Given the description of an element on the screen output the (x, y) to click on. 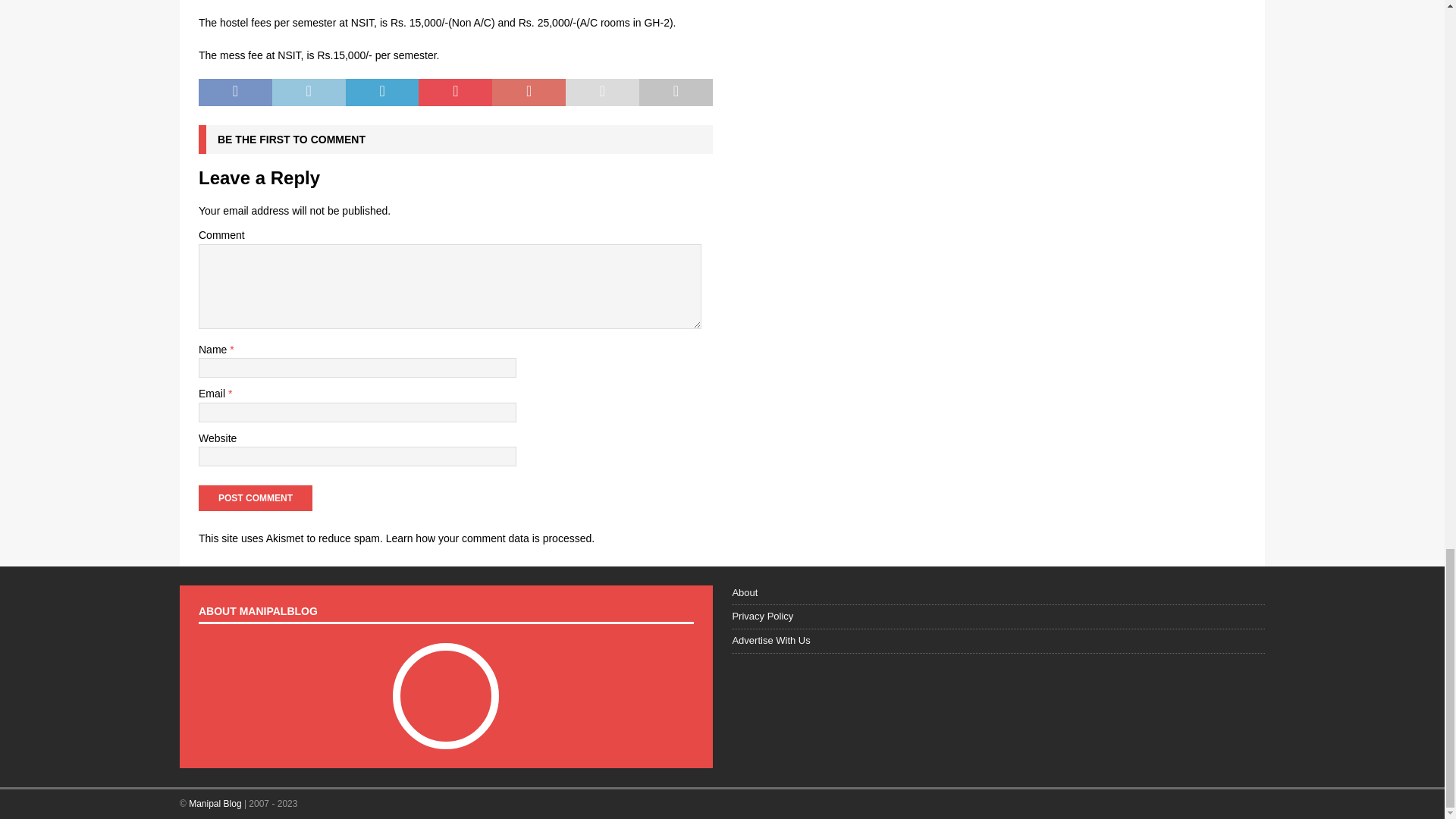
Learn how your comment data is processed (488, 538)
Post Comment (255, 498)
Post Comment (255, 498)
